Given the description of an element on the screen output the (x, y) to click on. 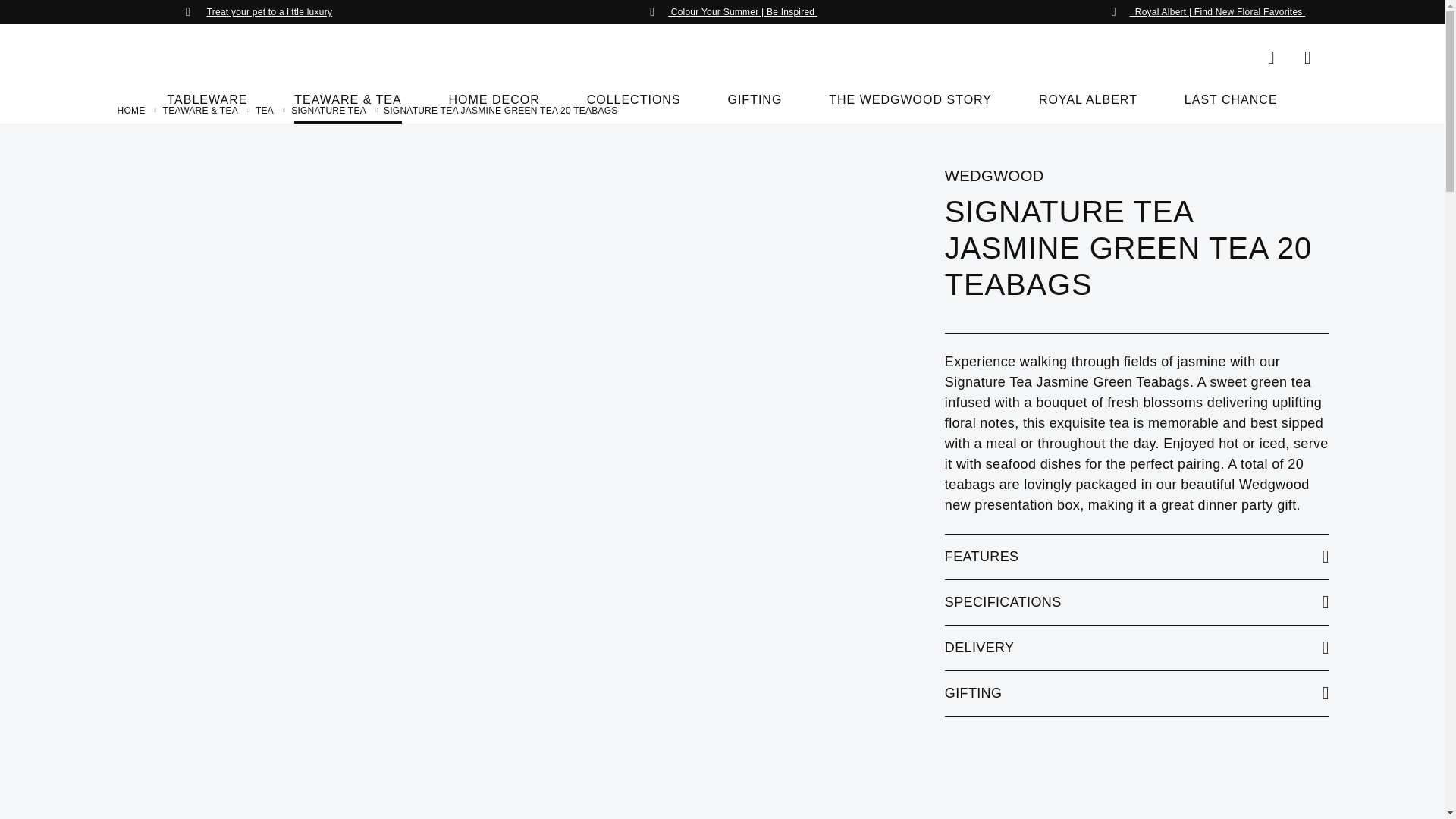
Login (1307, 57)
TABLEWARE (207, 106)
Treat your pet to a little luxury (269, 11)
Global gateway (1271, 57)
